Given the description of an element on the screen output the (x, y) to click on. 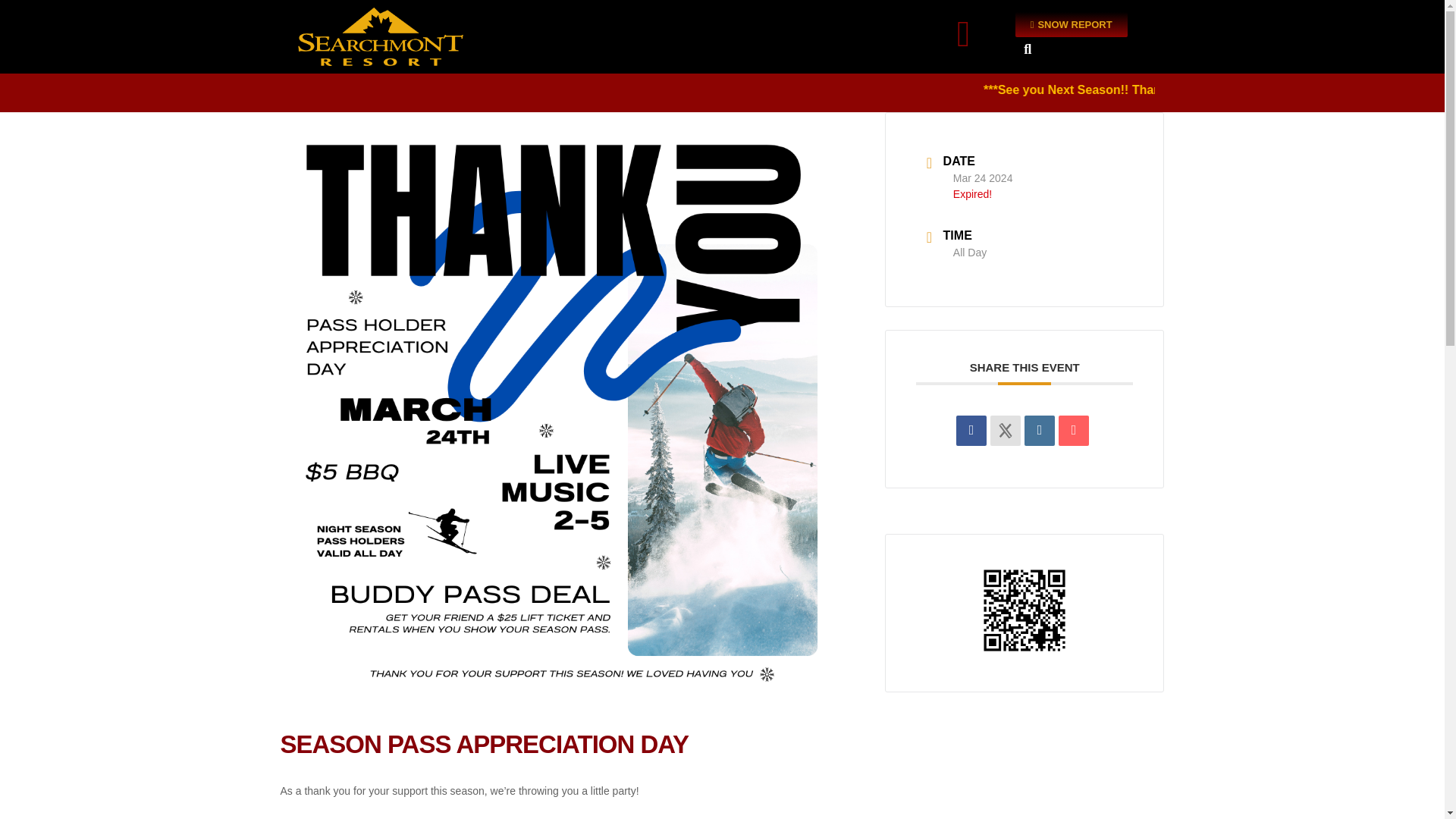
SNOW REPORT (1070, 24)
X Social Network (1005, 430)
Email (1073, 430)
Share on Facebook (971, 430)
Linkedin (1039, 430)
